Given the description of an element on the screen output the (x, y) to click on. 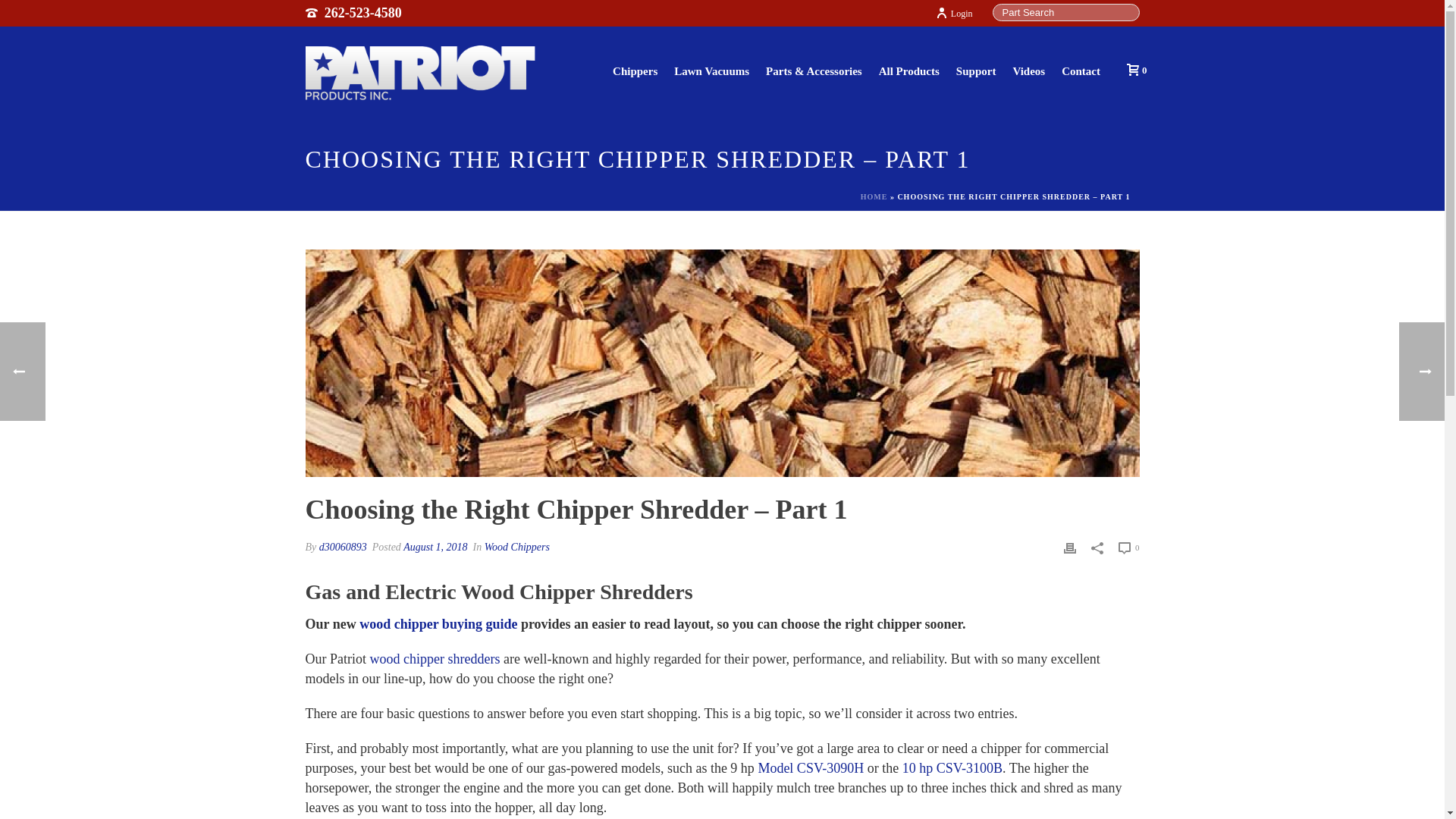
All Products (908, 71)
Support (975, 71)
Videos (1028, 71)
0 (1133, 70)
0 (1128, 547)
262-523-4580 (362, 12)
Lawn Vacuums (711, 71)
Shop our gas and electric wood chipper shredders online (434, 658)
Videos (1028, 71)
Shop 10 HP gas wood chipper leaf shredder online (952, 767)
